Given the description of an element on the screen output the (x, y) to click on. 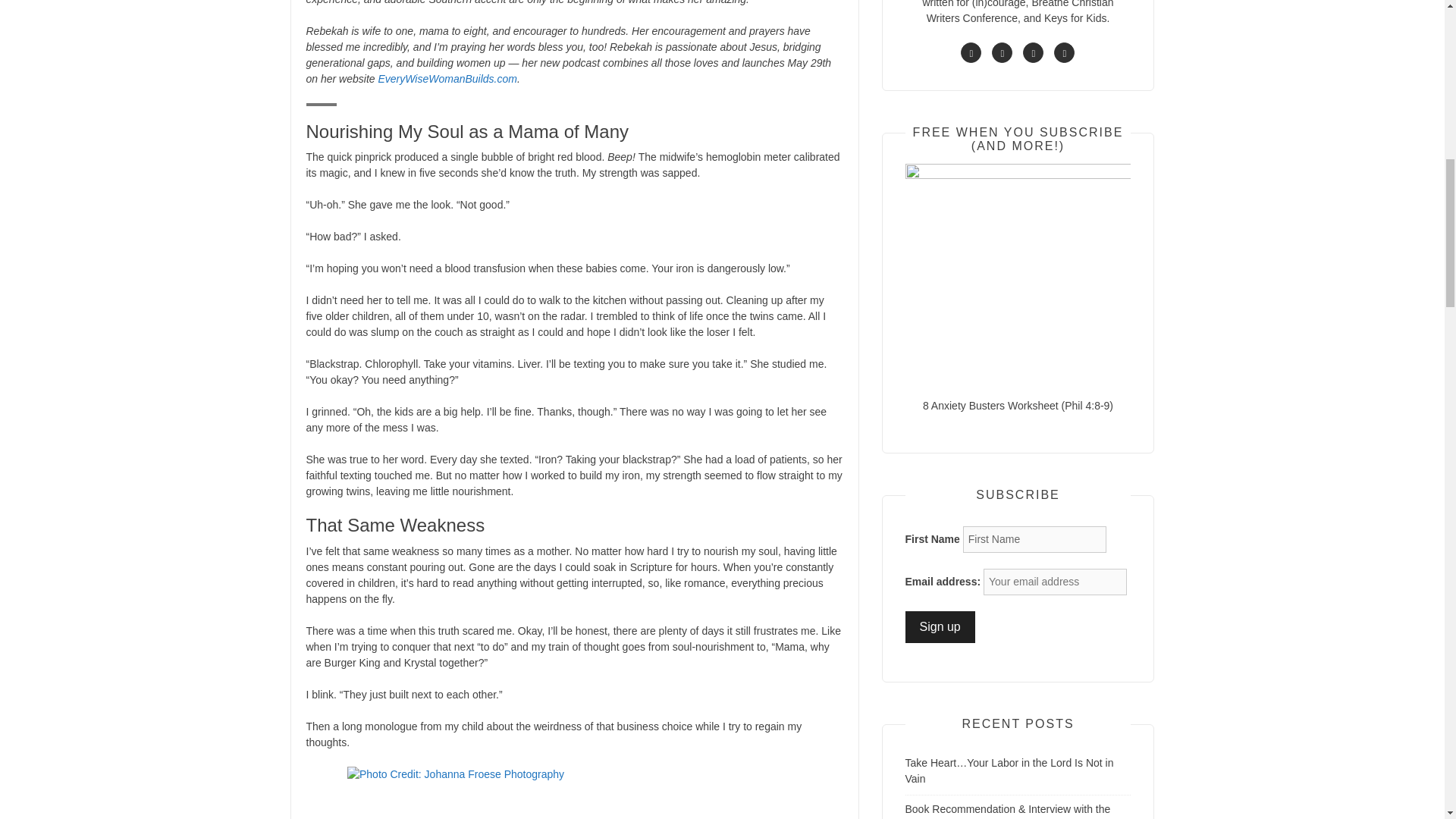
Sign up (940, 626)
EveryWiseWomanBuilds.com (446, 78)
facebook (970, 52)
instagram (1033, 52)
twitter (1001, 52)
Sign up (940, 626)
First Name (1034, 539)
pinterest (1064, 52)
